Given the description of an element on the screen output the (x, y) to click on. 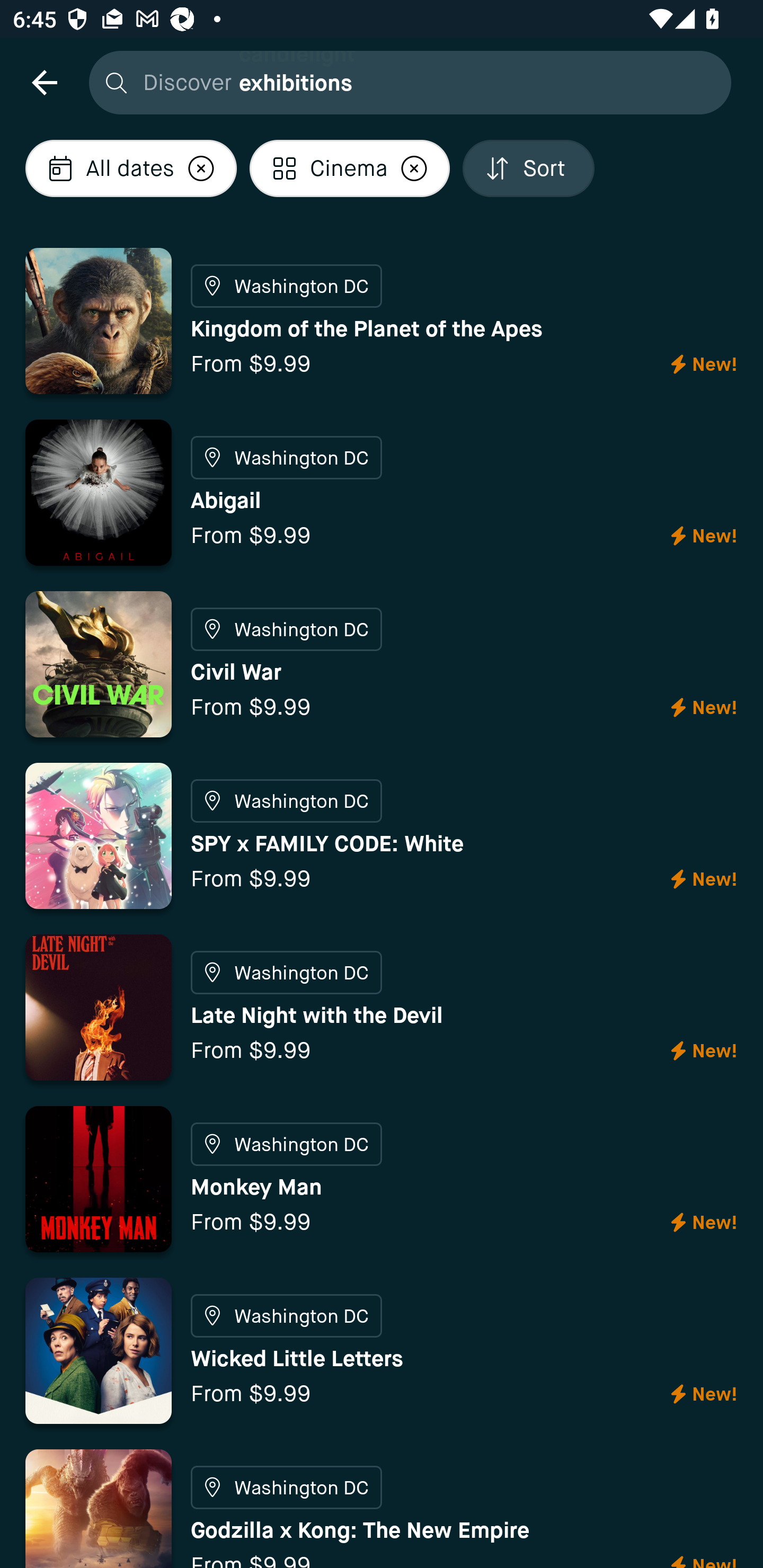
navigation icon (44, 81)
Discover candlelight exhibitions (405, 81)
Localized description (201, 168)
Localized description Cinema Localized description (349, 168)
Localized description (414, 168)
Localized description Sort (528, 168)
